Given the description of an element on the screen output the (x, y) to click on. 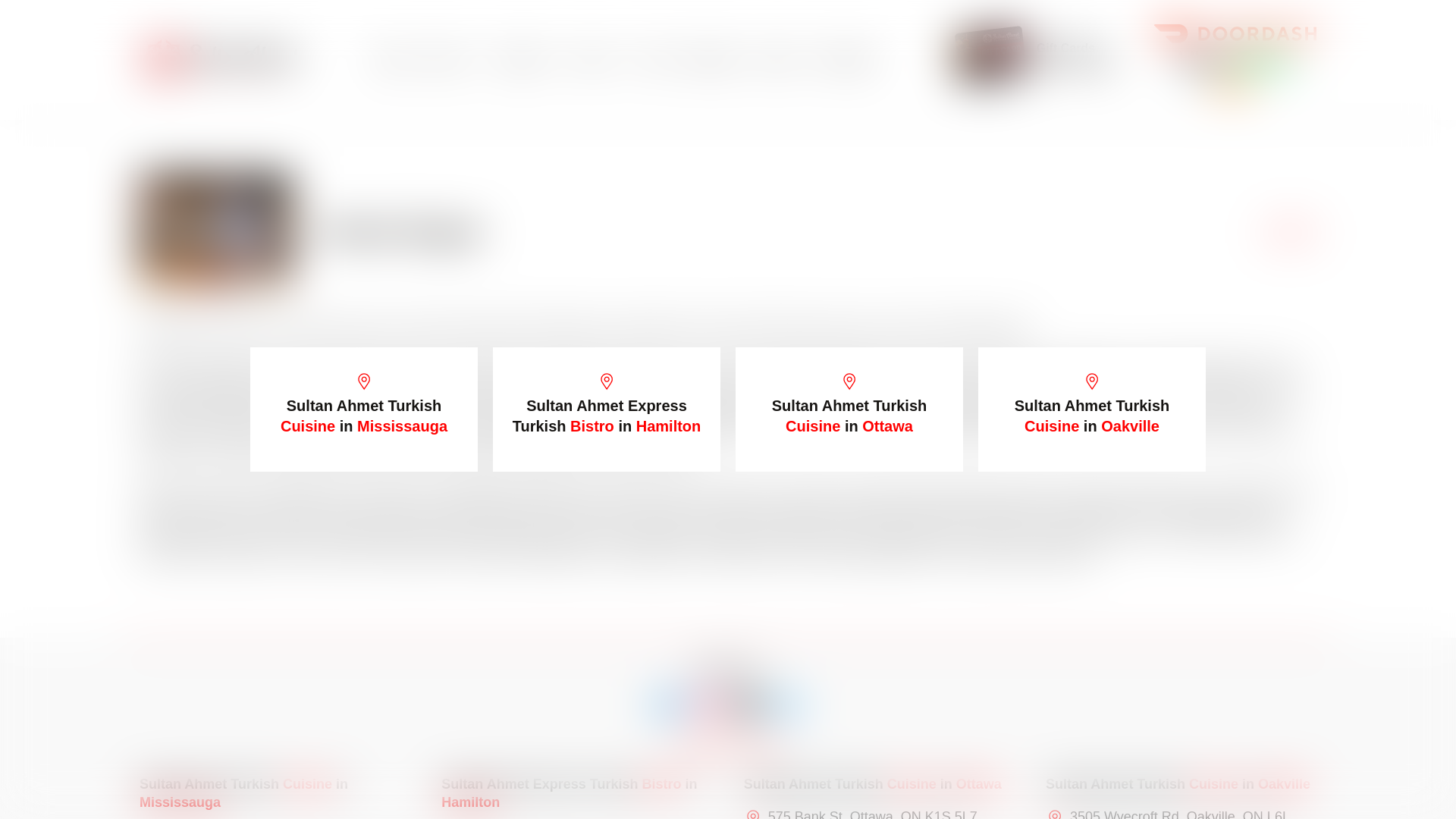
Gift Cards (1065, 47)
Home (392, 59)
Content (527, 59)
Reviews (712, 59)
Home (392, 59)
Franchise (846, 59)
Share (1290, 231)
Menu (454, 59)
Franchise (846, 59)
Sultan Ahmet Express Turkish Bistro in Hamilton (606, 409)
Sultan Ahmet Turkish Cuisine in Ottawa (848, 409)
Menu (454, 59)
Sultan Ahmet Turkish Cuisine in Mississauga (363, 409)
Career (777, 59)
FAQ (655, 59)
